Given the description of an element on the screen output the (x, y) to click on. 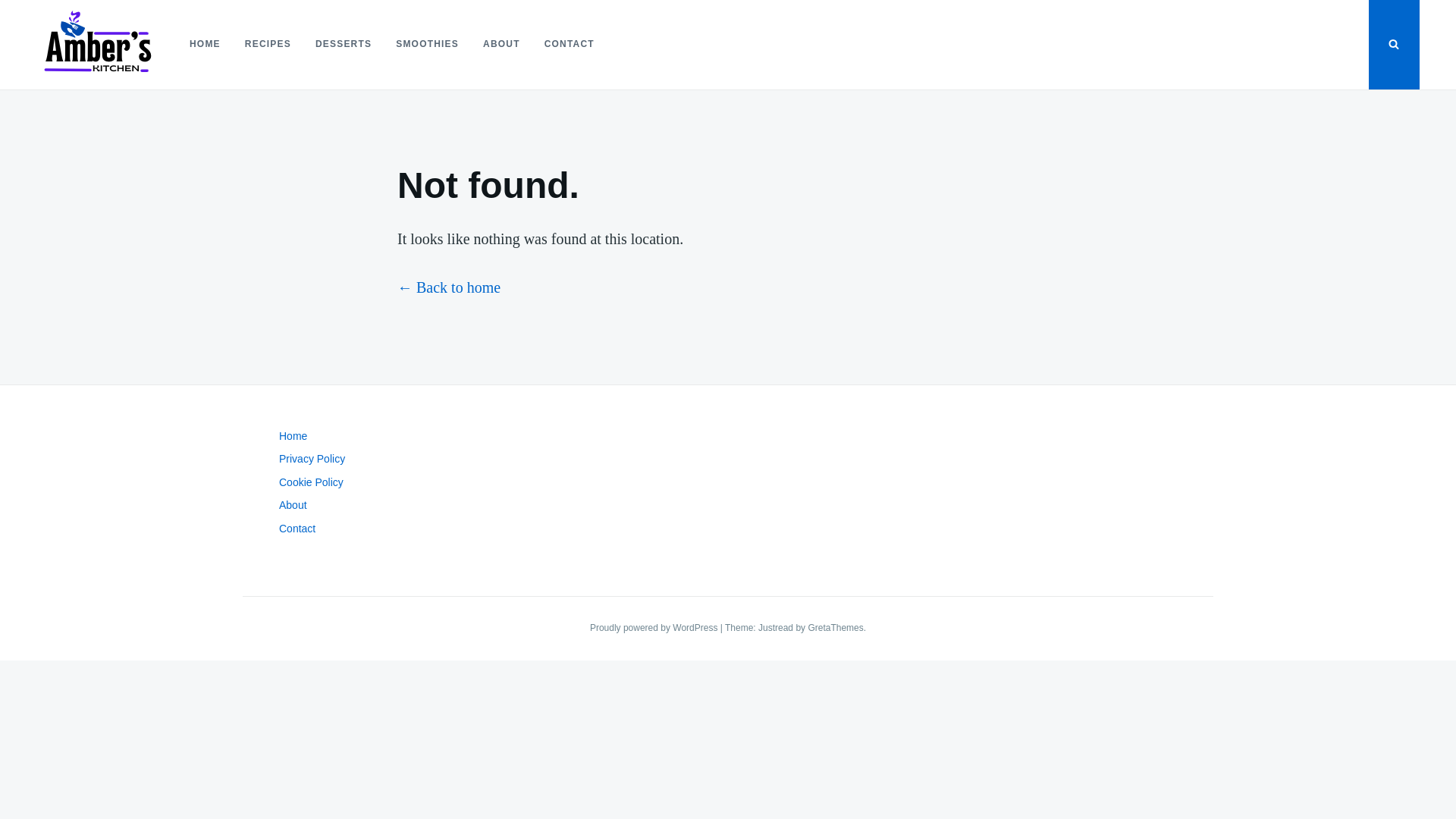
GretaThemes (835, 627)
Cookie Policy (311, 481)
RECIPES (267, 43)
ABOUT (501, 43)
HOME (204, 43)
Privacy Policy (312, 458)
About (293, 504)
SMOOTHIES (427, 43)
Proudly powered by WordPress (654, 627)
